Given the description of an element on the screen output the (x, y) to click on. 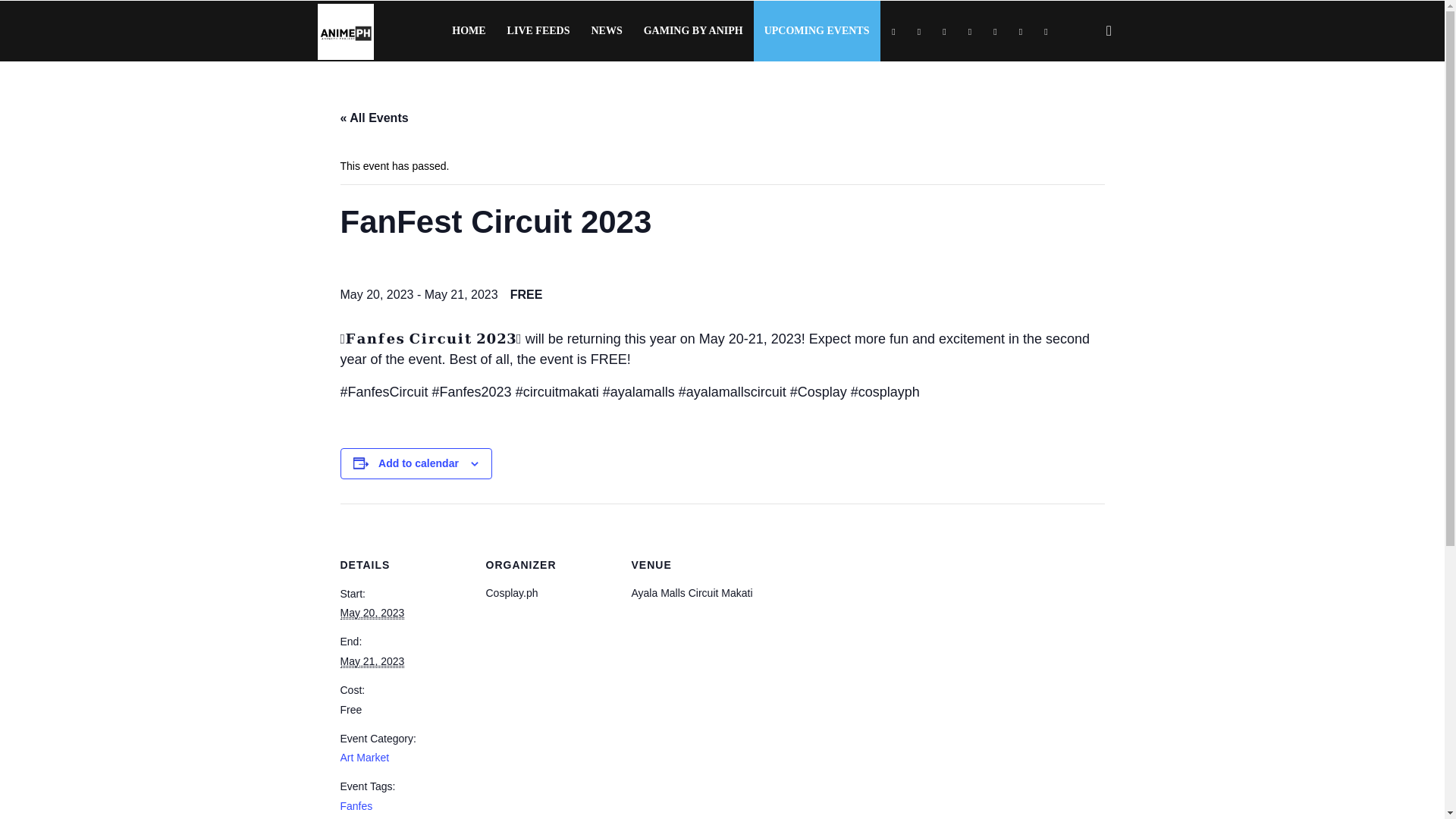
Search (1085, 103)
UPCOMING EVENTS (817, 30)
GAMING BY ANIPH (693, 30)
HOME (468, 30)
Add to calendar (418, 463)
LIVE FEEDS (538, 30)
ANIMEPH (344, 30)
